Given the description of an element on the screen output the (x, y) to click on. 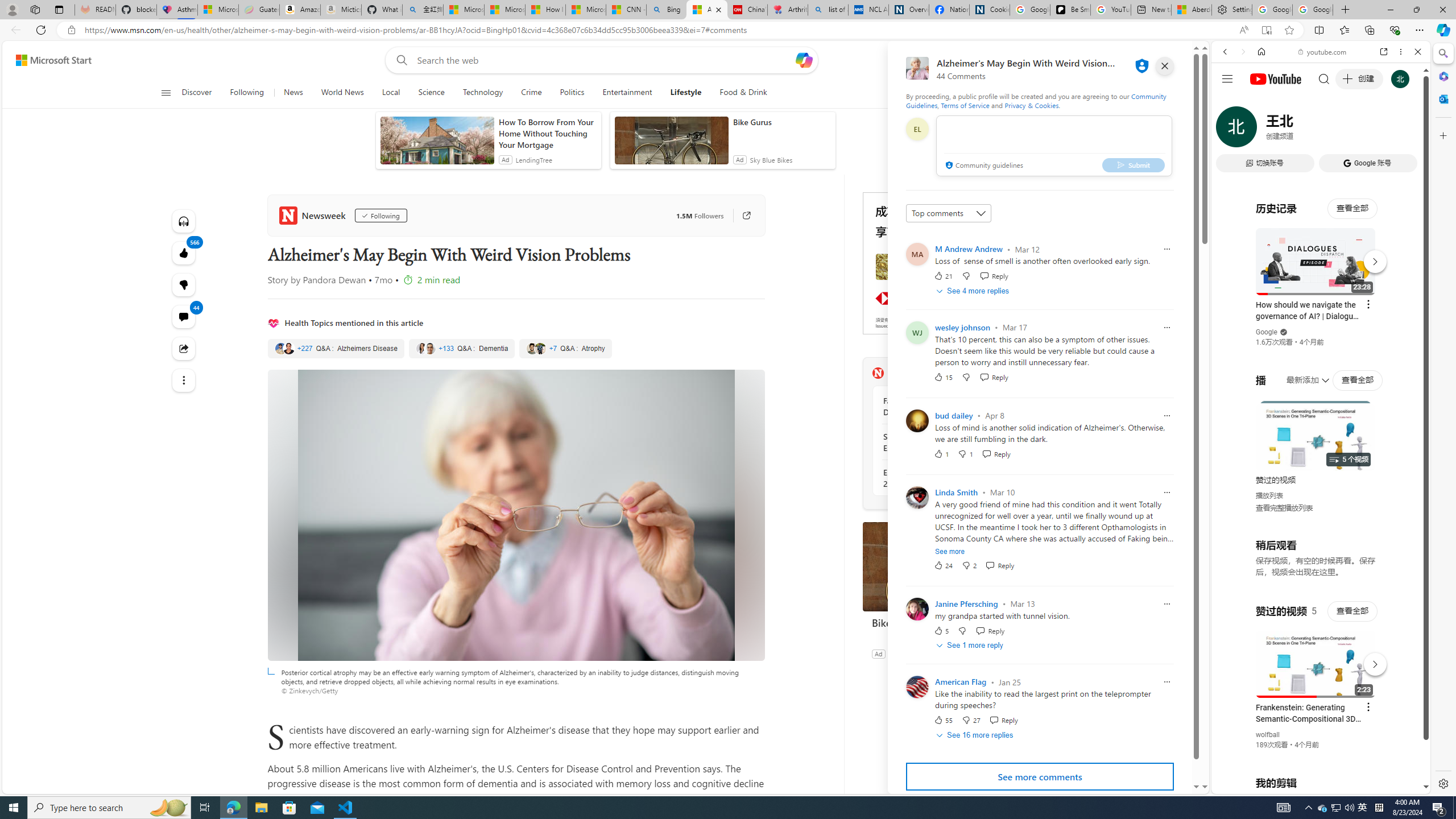
American Flag (960, 681)
Class: qc-adchoices-icon (1028, 196)
Be Smart | creating Science videos | Patreon (1069, 9)
World News (342, 92)
Listen to this article (183, 220)
Skip to content (49, 59)
#you (1320, 253)
WEB   (1230, 130)
Copilot (Ctrl+Shift+.) (1442, 29)
Cookies (988, 9)
Google (1266, 331)
Newsweek (314, 215)
